Given the description of an element on the screen output the (x, y) to click on. 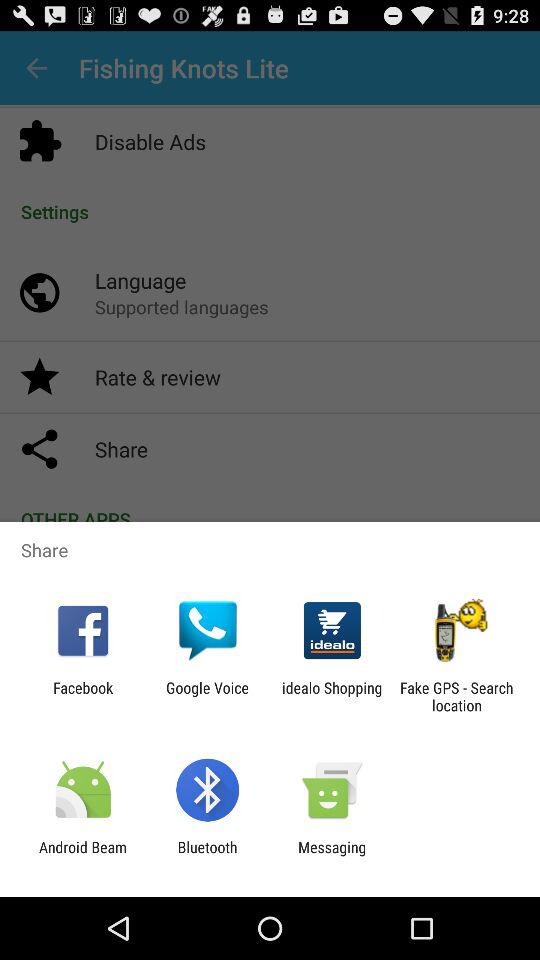
turn off fake gps search item (456, 696)
